Given the description of an element on the screen output the (x, y) to click on. 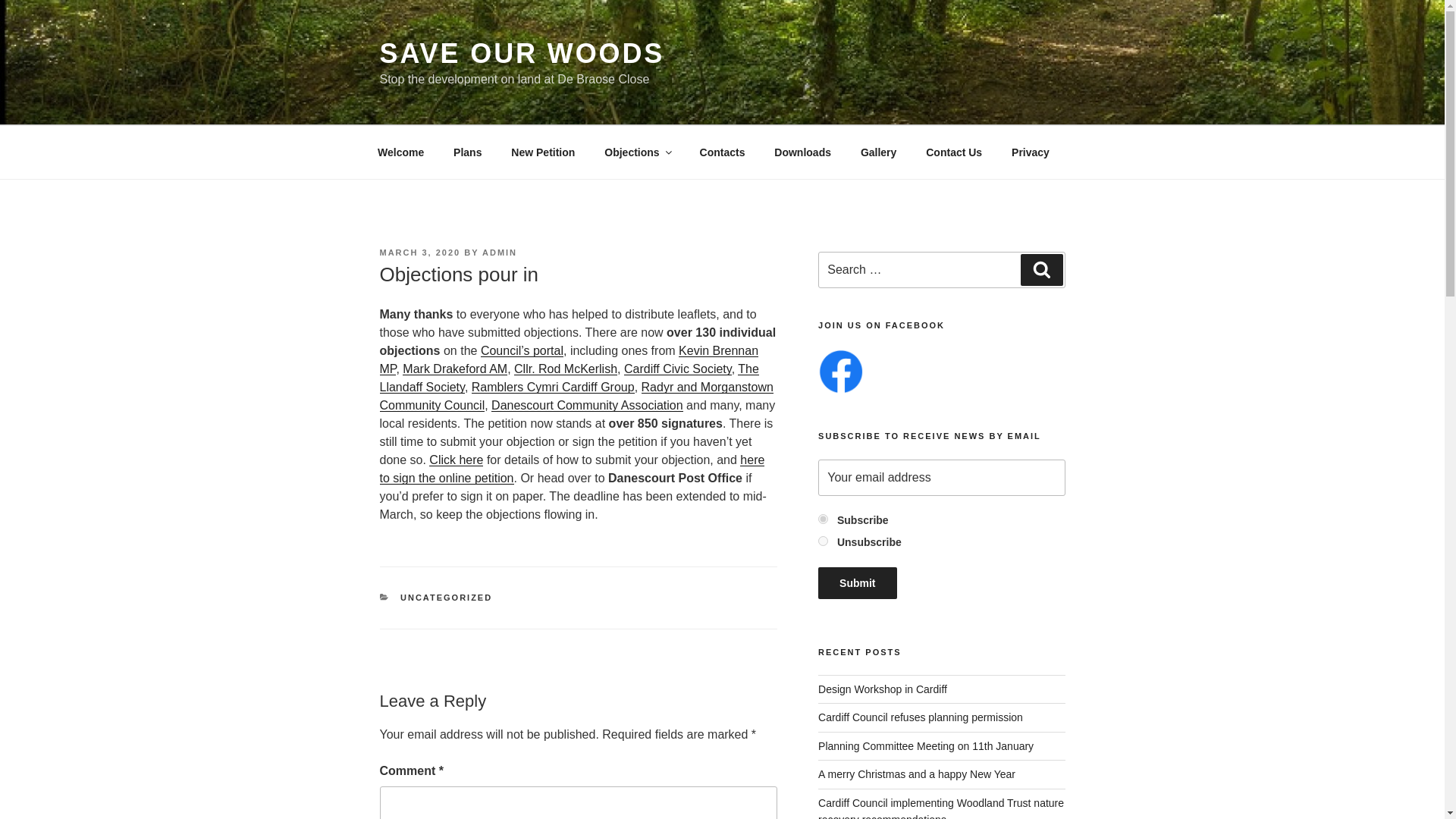
Danescourt Community Association (587, 404)
Gallery (877, 151)
Click here (456, 459)
Search (1041, 269)
Design Workshop in Cardiff (882, 689)
Kevin Brennan MP (568, 359)
here to sign the online petition (571, 468)
The Llandaff Society (568, 377)
Join us on Facebook (840, 370)
SAVE OUR WOODS (520, 52)
